Given the description of an element on the screen output the (x, y) to click on. 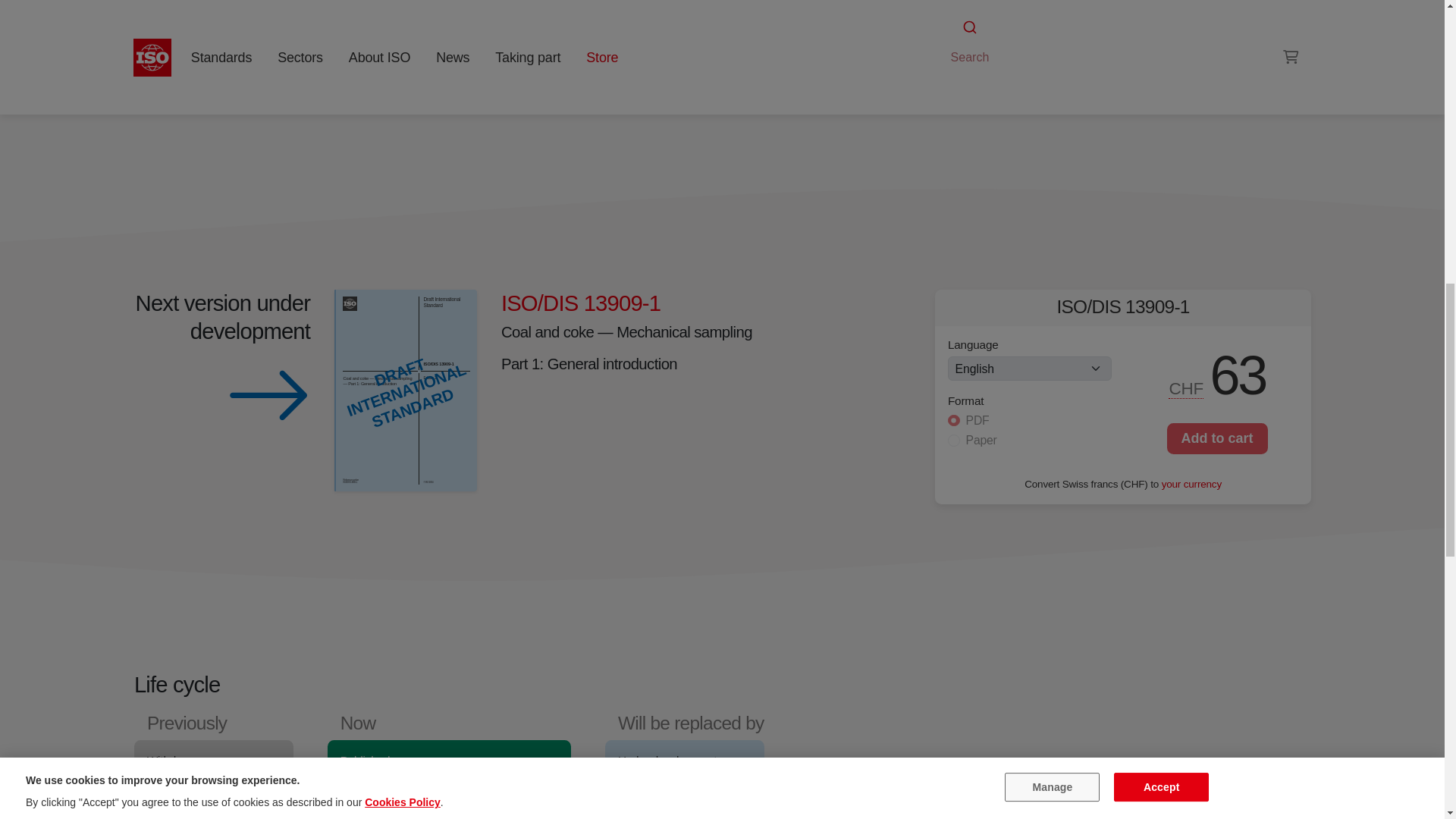
Coals (988, 40)
73.040 (988, 40)
Sampling (1117, 22)
75.160.10 (1045, 40)
RSS (956, 70)
Solid fuels (1045, 40)
